Given the description of an element on the screen output the (x, y) to click on. 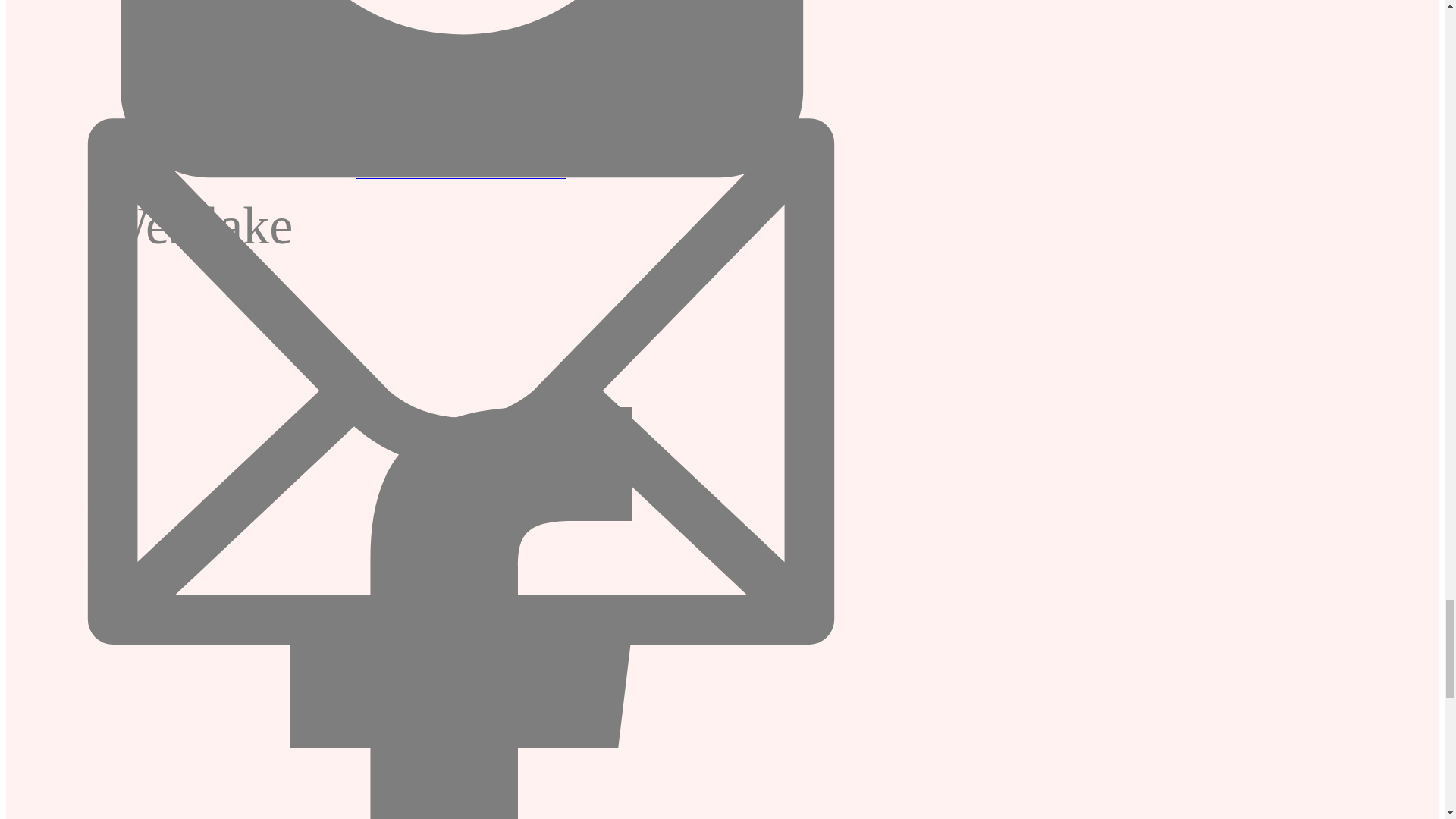
PHOTOGRAPHY STUDIO (460, 173)
